Given the description of an element on the screen output the (x, y) to click on. 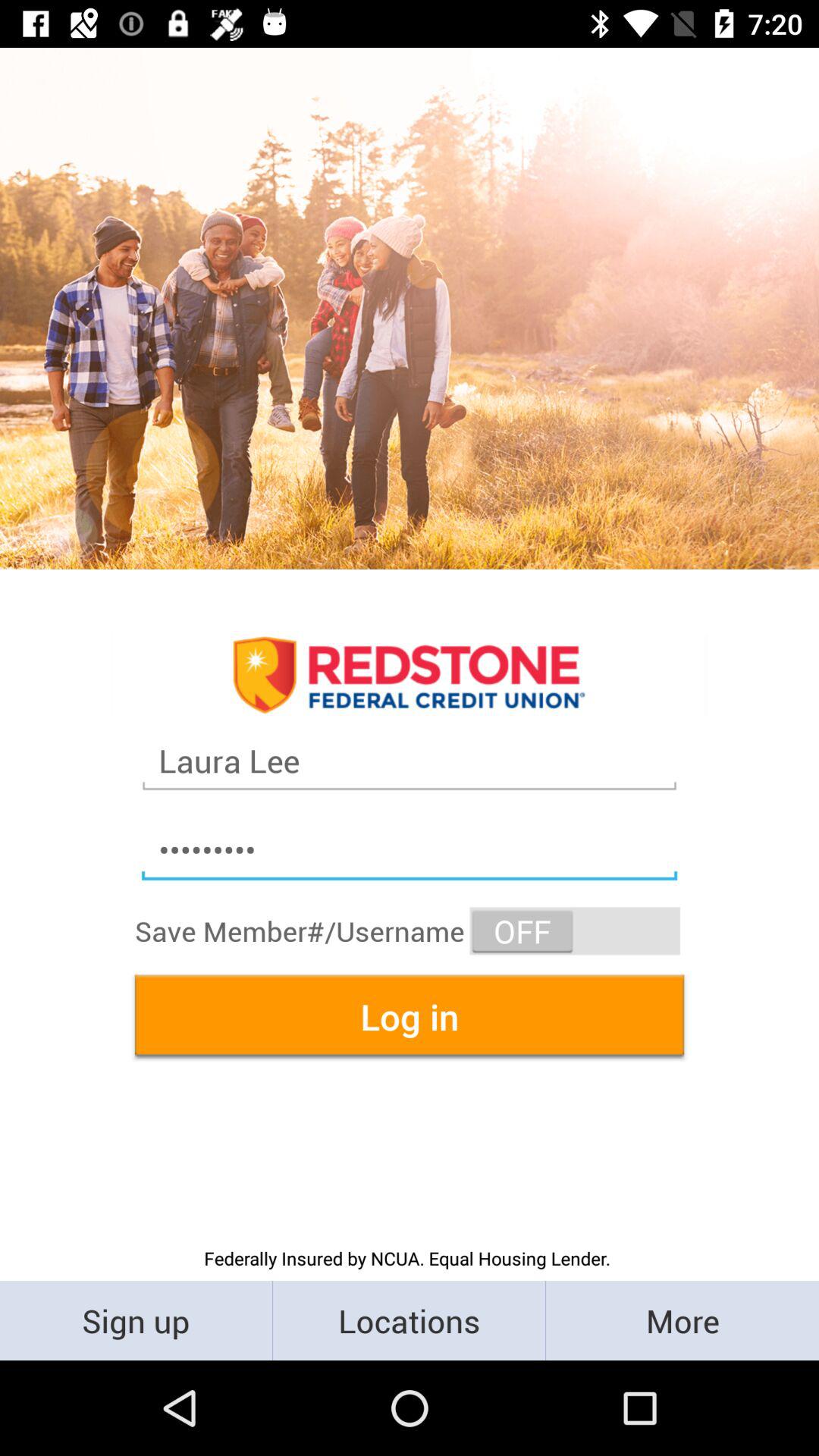
turn off icon above the crowd3116 (409, 760)
